Given the description of an element on the screen output the (x, y) to click on. 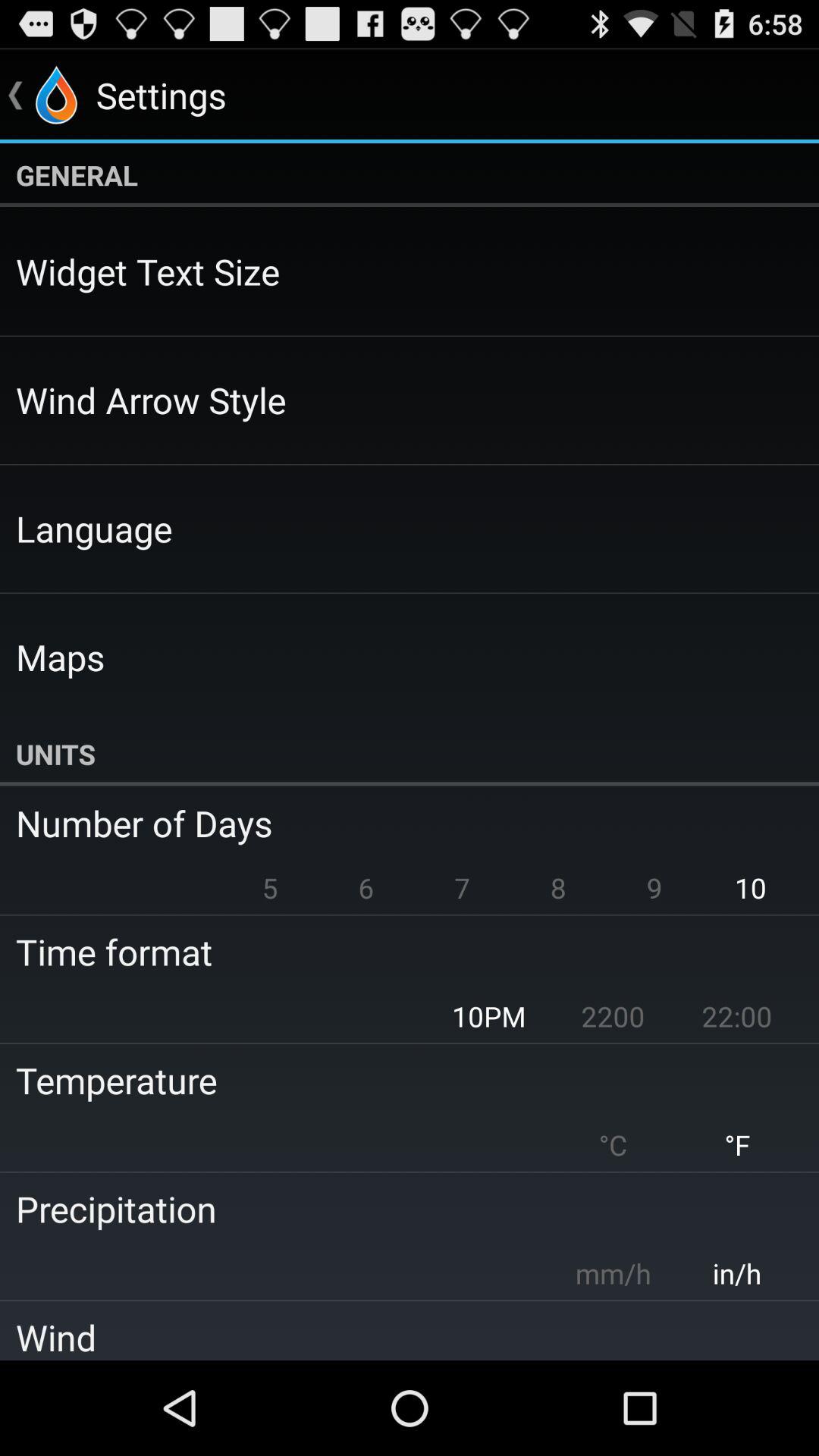
choose the app above mm/h item (399, 1208)
